Given the description of an element on the screen output the (x, y) to click on. 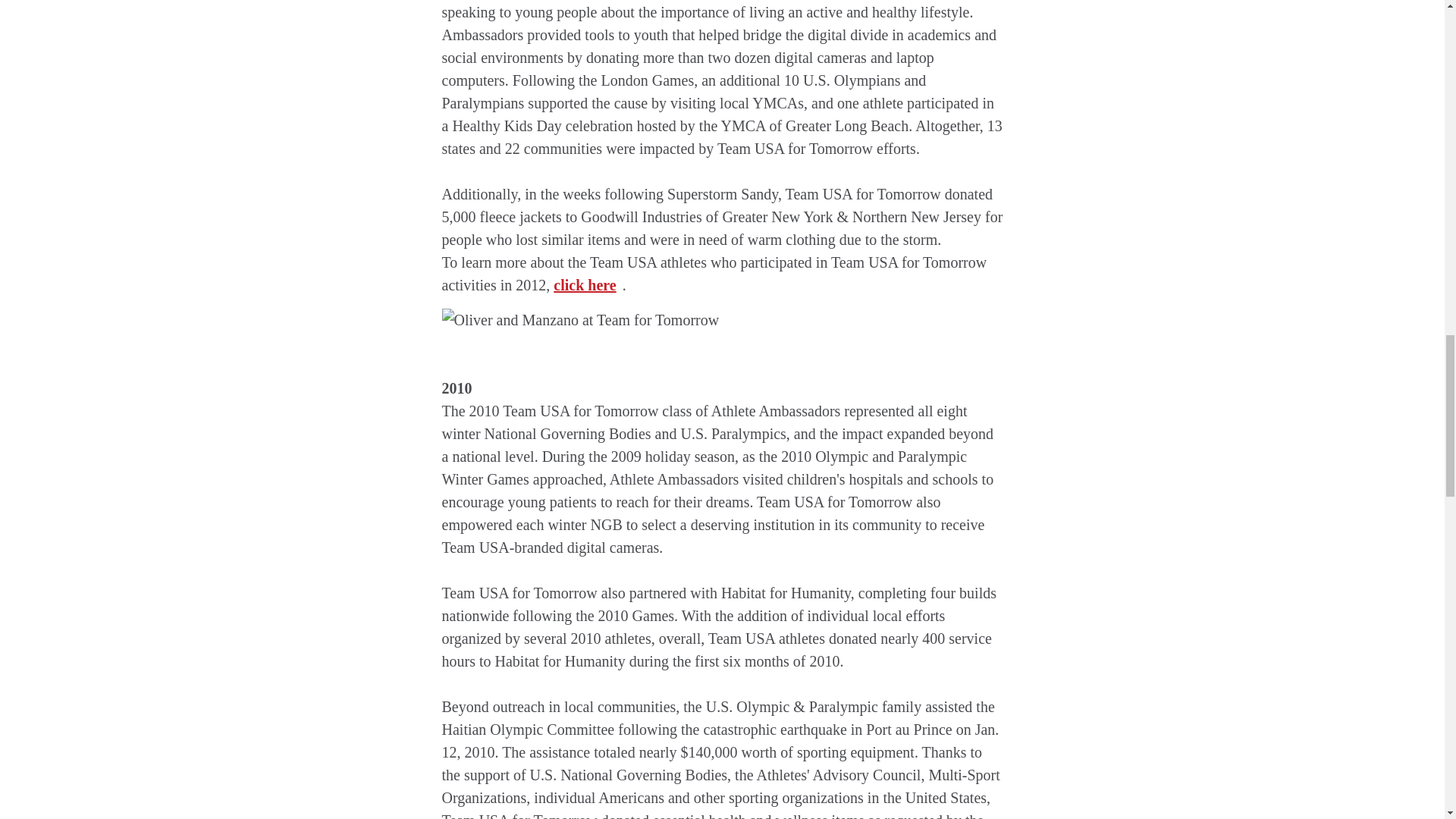
click here (587, 284)
